Given the description of an element on the screen output the (x, y) to click on. 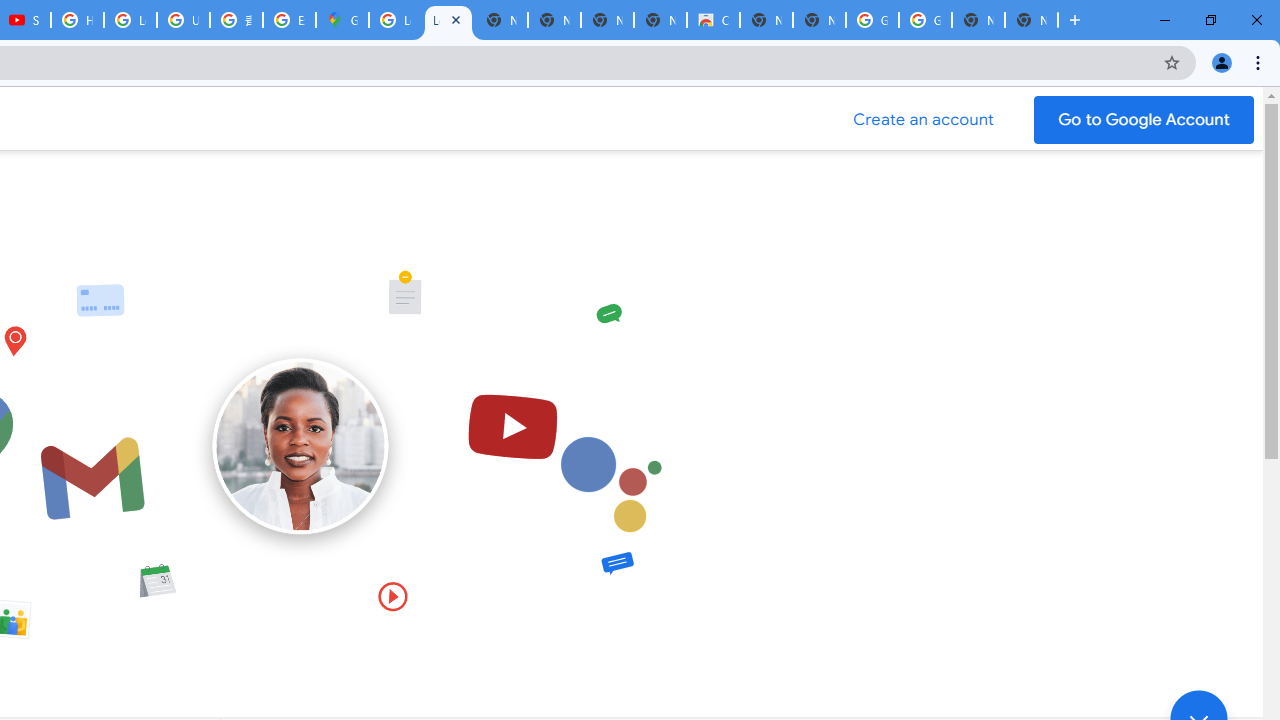
Chrome Web Store (713, 20)
How Chrome protects your passwords - Google Chrome Help (77, 20)
Explore new street-level details - Google Maps Help (289, 20)
